Given the description of an element on the screen output the (x, y) to click on. 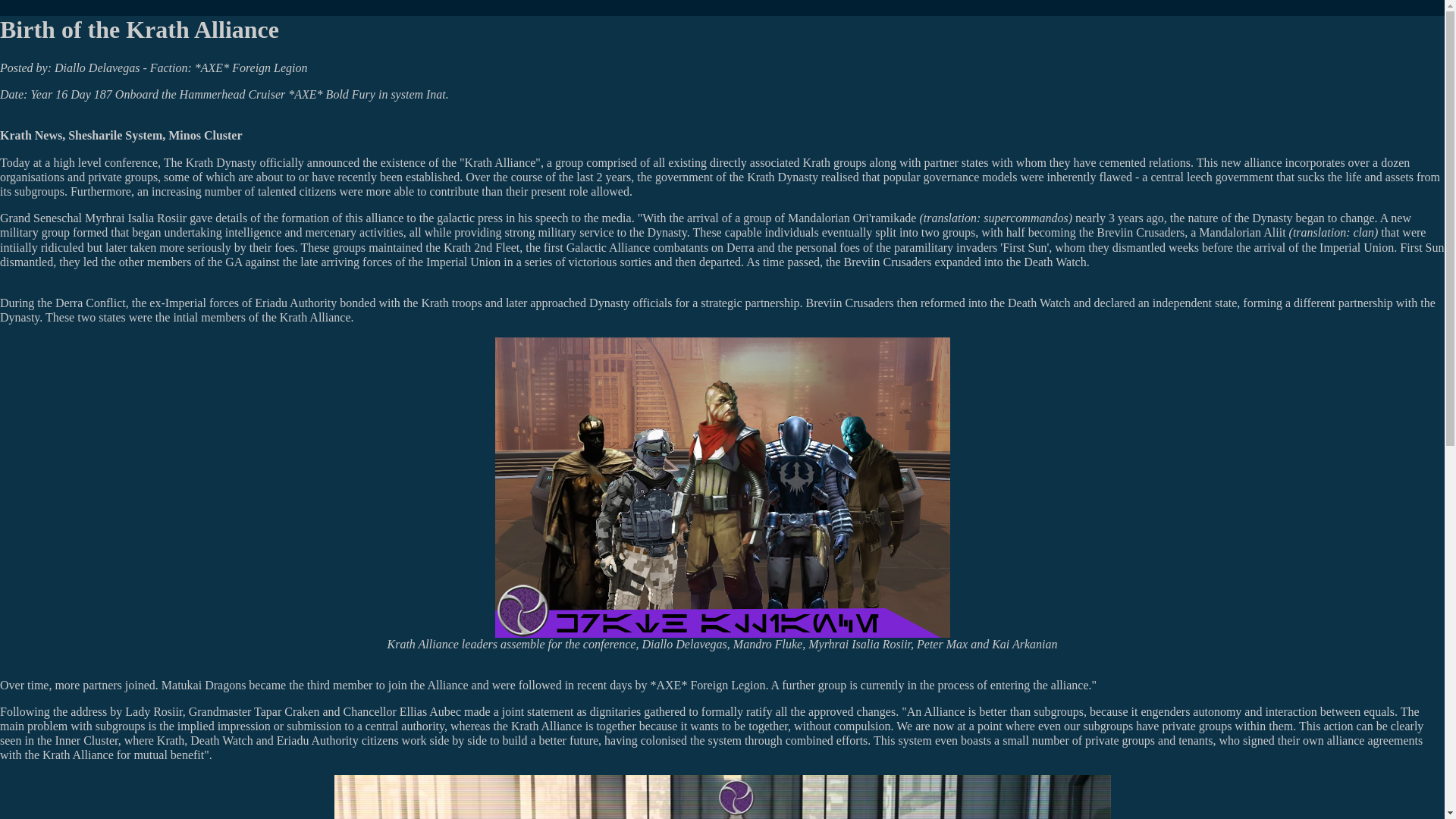
Ellias Aubec (429, 711)
Krath Alliance (499, 162)
Tapar Craken (285, 711)
Ellias Aubec (429, 711)
The Krath Dynasty (210, 162)
Year 16 (48, 93)
Tapar Craken (285, 711)
The Krath Dynasty (210, 162)
Krath Alliance (499, 162)
Year 16 (48, 93)
